Given the description of an element on the screen output the (x, y) to click on. 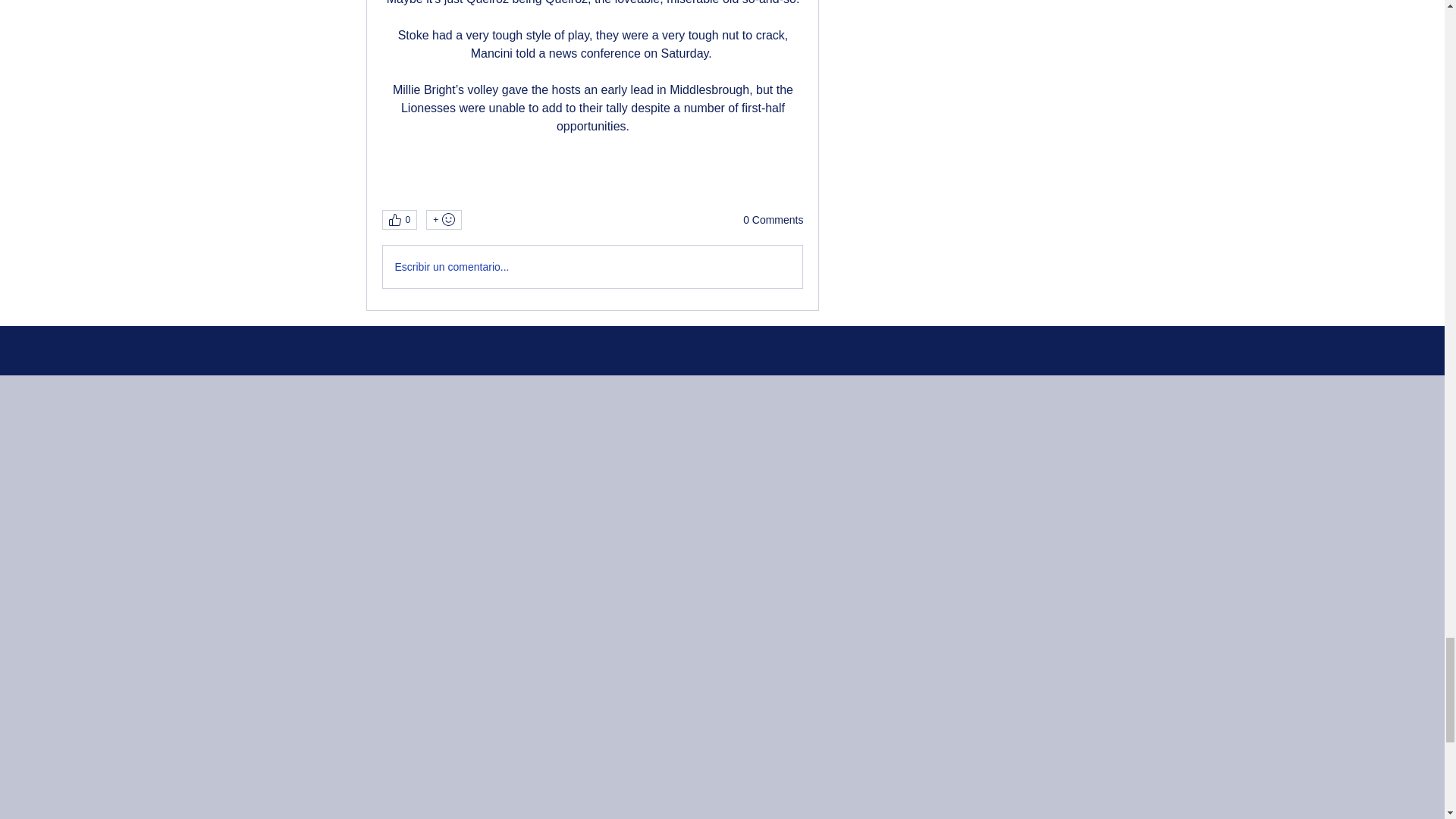
0 Comments (772, 220)
Escribir un comentario... (591, 266)
